Given the description of an element on the screen output the (x, y) to click on. 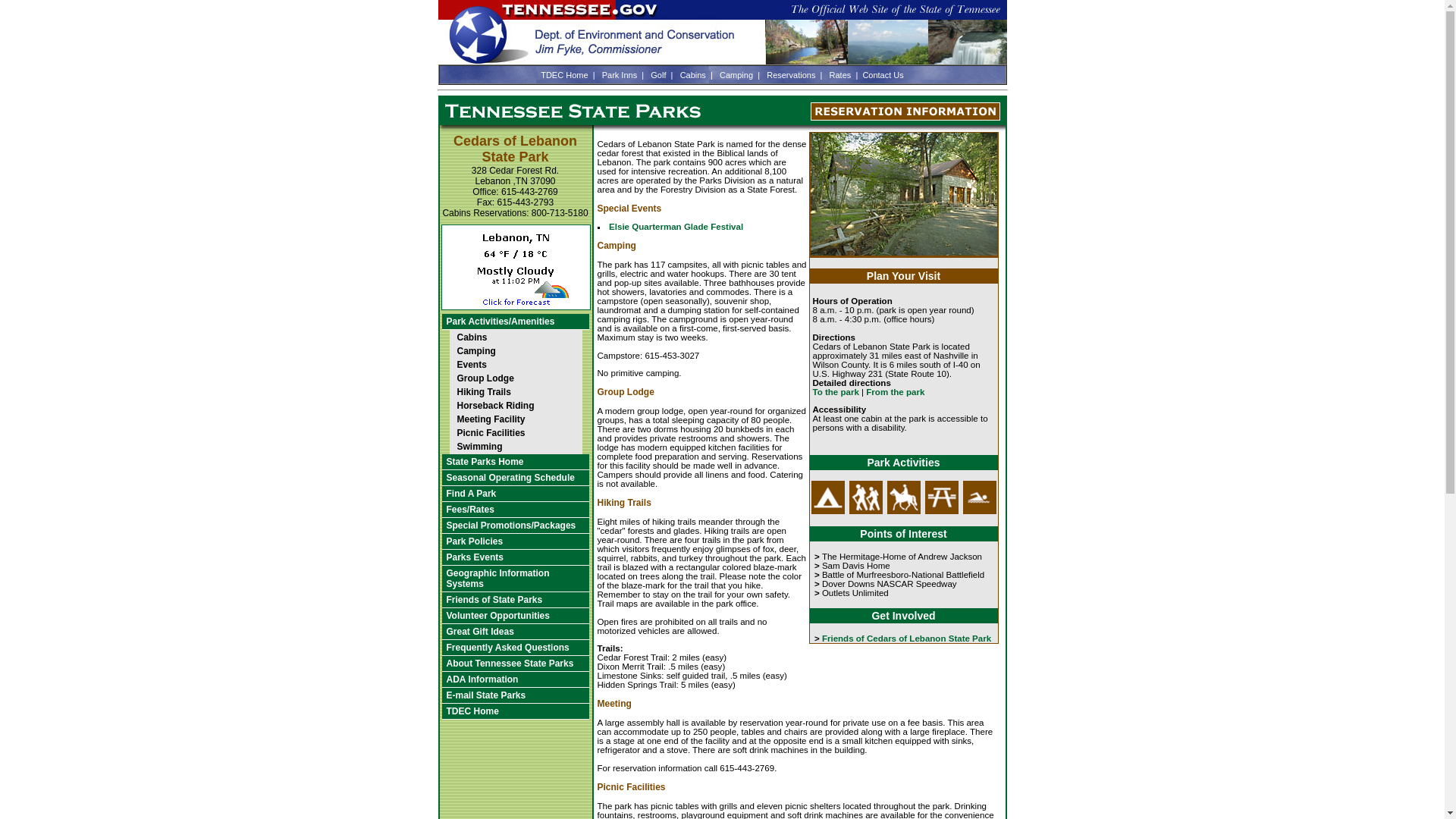
Friends Groups (514, 600)
Camping (514, 350)
news (514, 321)
Hiking Trails (514, 391)
E-mail State Parks (514, 695)
Events (514, 364)
Swimming (514, 446)
Cabins (514, 337)
Contact Us (881, 73)
Friends of State Parks (514, 600)
ADA Information (514, 679)
Park Inns (619, 73)
Cabins (692, 73)
TDEC Home (514, 711)
To the park (835, 391)
